Given the description of an element on the screen output the (x, y) to click on. 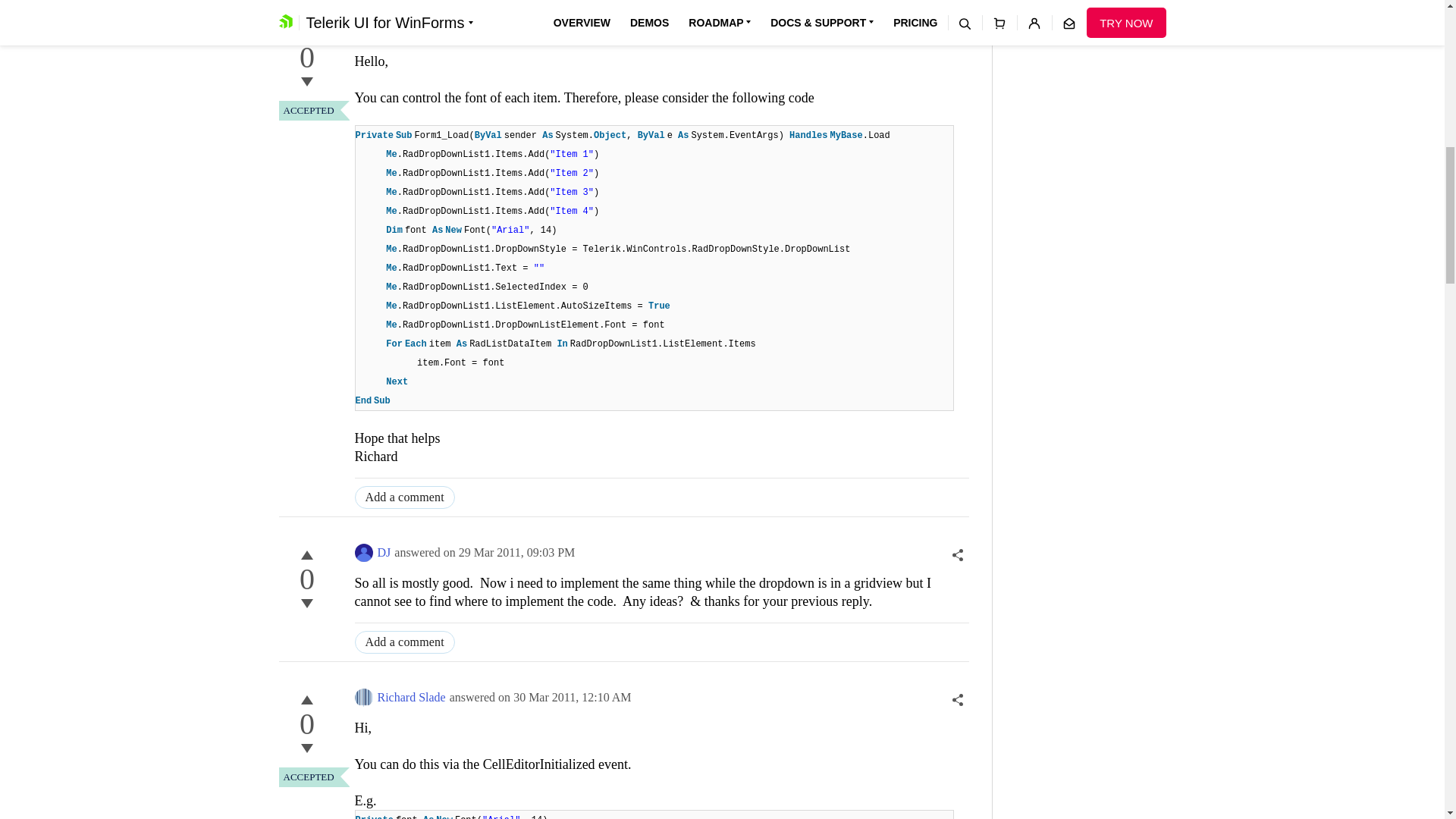
This answer is not helpful. (306, 603)
This answer is helpful. (306, 699)
This answer is not helpful. (306, 748)
This answer is helpful. (306, 554)
This answer is not helpful. (306, 81)
This answer is helpful. (306, 33)
